Given the description of an element on the screen output the (x, y) to click on. 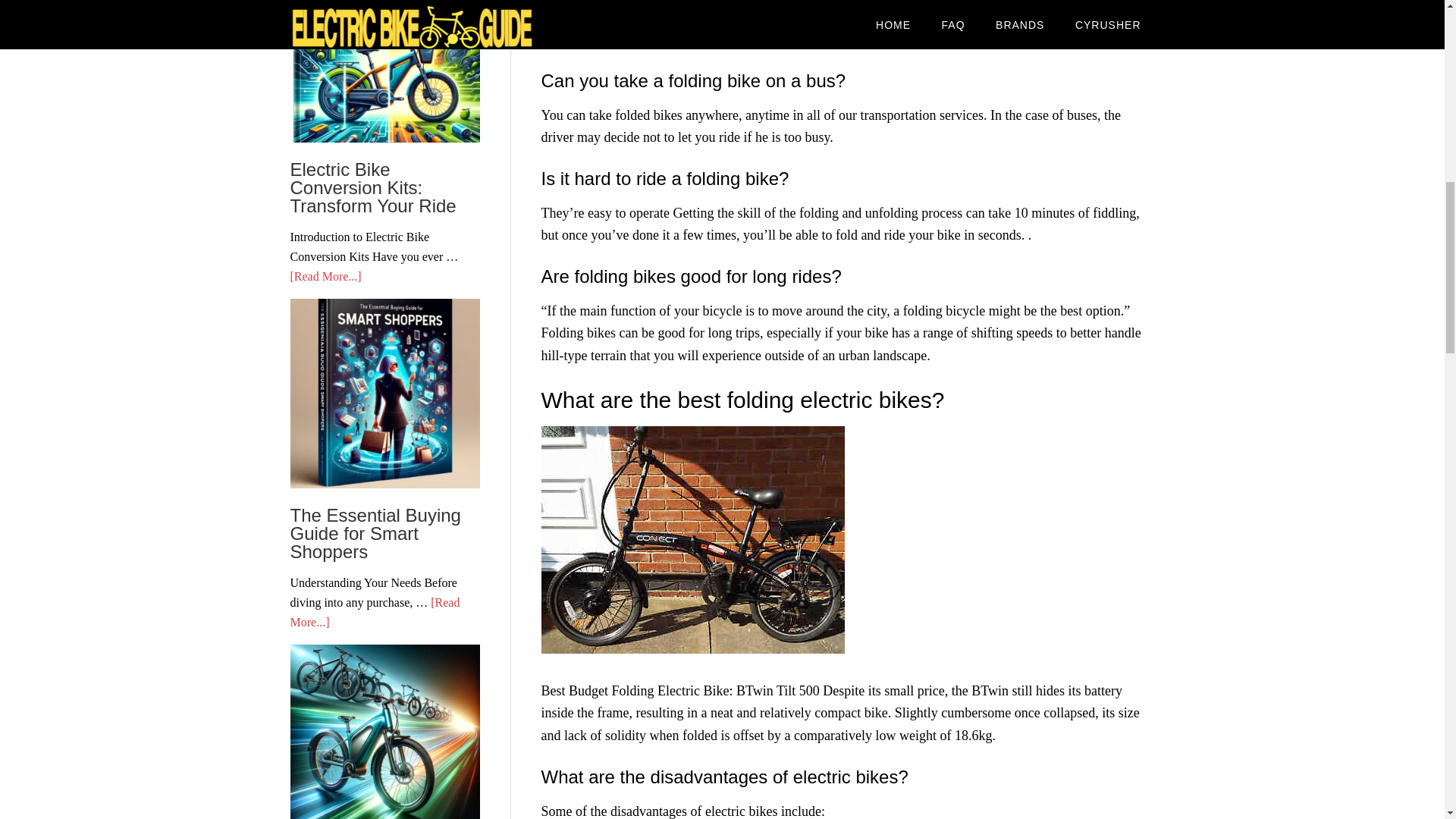
The Essential Buying Guide for Smart Shoppers (374, 533)
Electric Bike Conversion Kits: Transform Your Ride (372, 187)
